Given the description of an element on the screen output the (x, y) to click on. 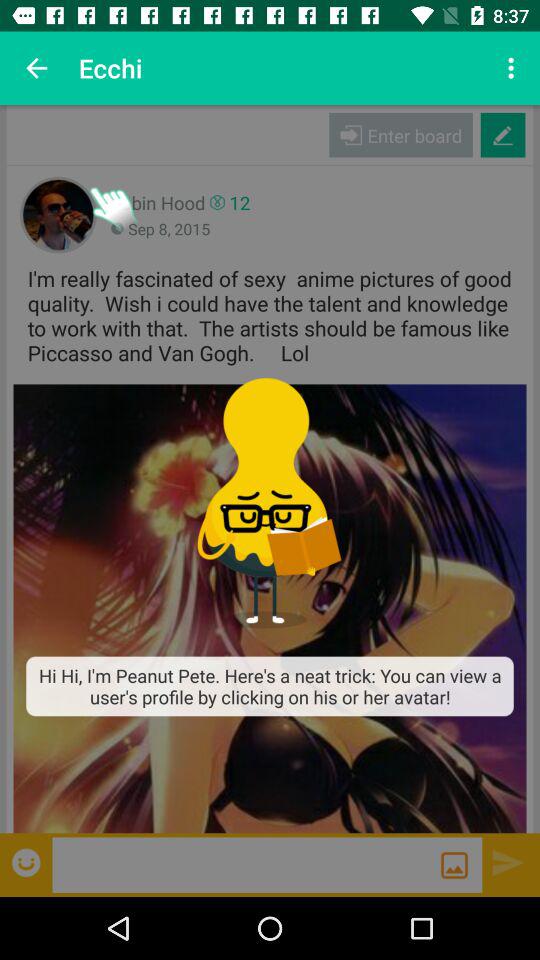
sent a written message (508, 862)
